Given the description of an element on the screen output the (x, y) to click on. 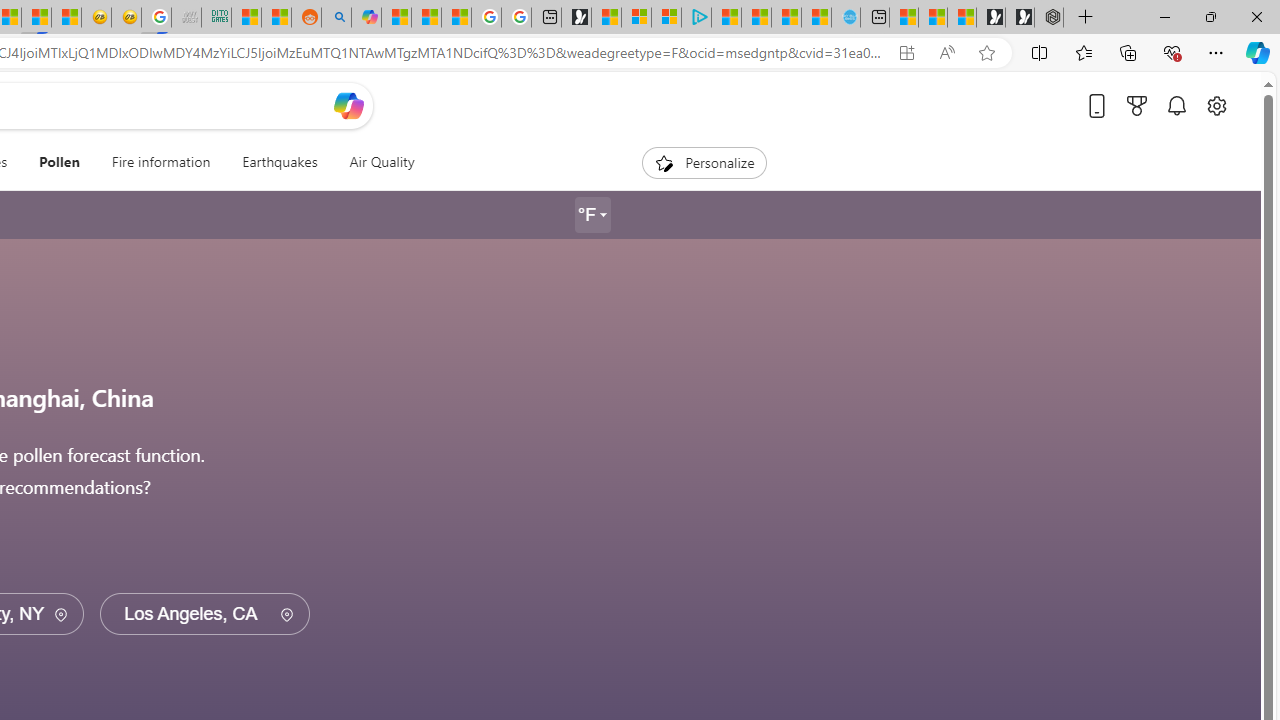
Air Quality (373, 162)
Fire information (161, 162)
Earthquakes (280, 162)
